Given the description of an element on the screen output the (x, y) to click on. 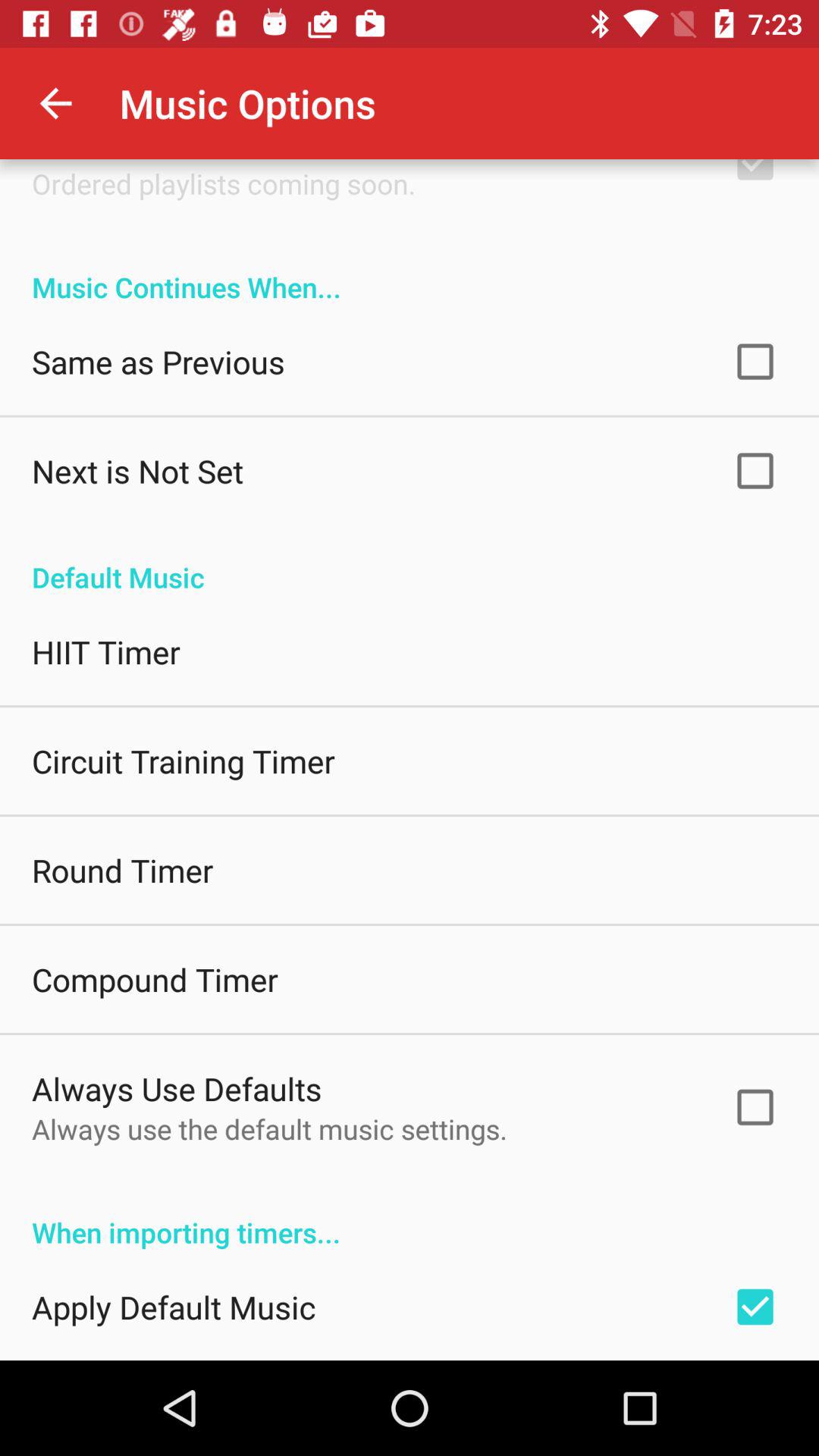
press icon below music continues when... item (157, 361)
